Given the description of an element on the screen output the (x, y) to click on. 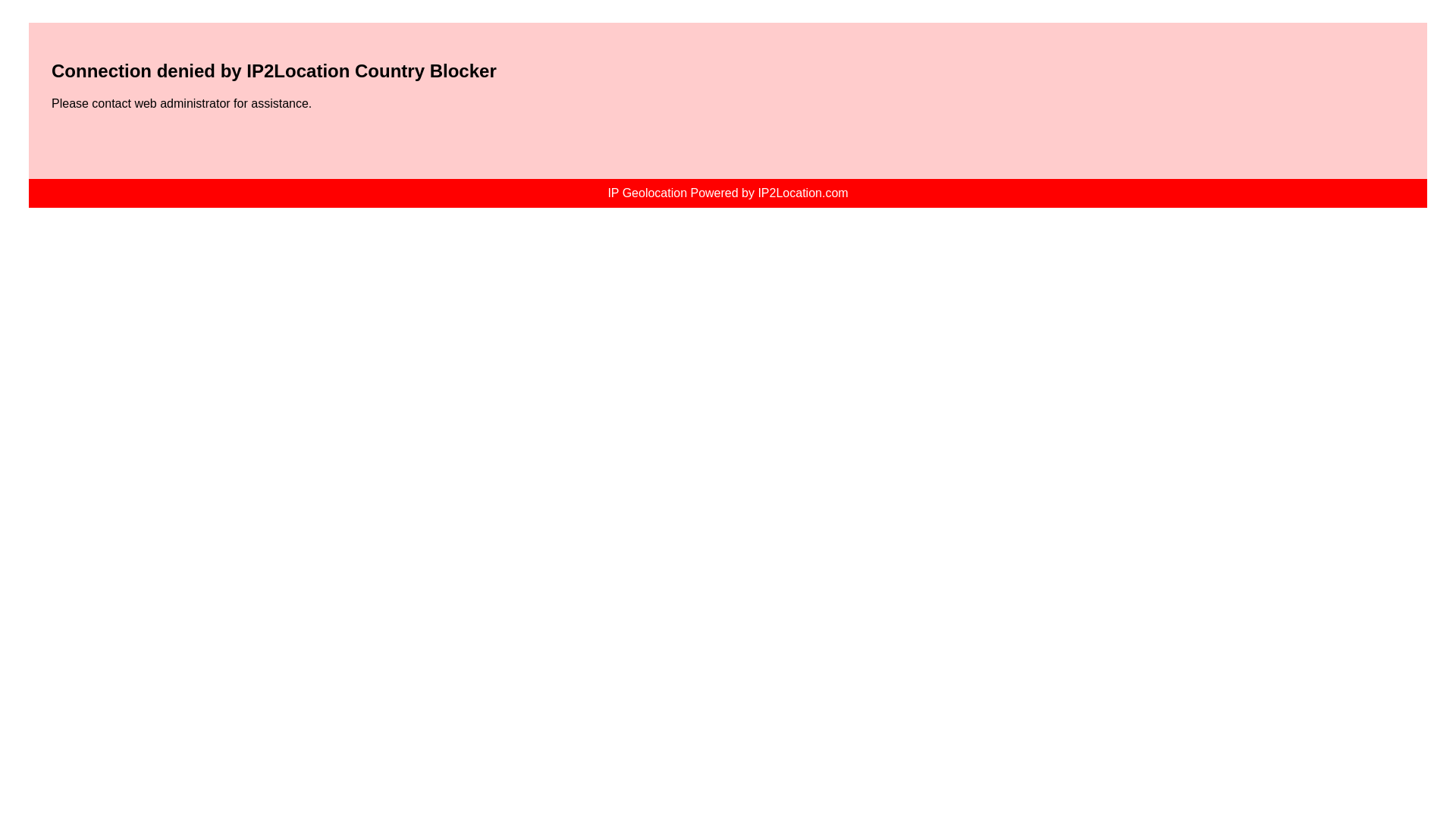
IP Geolocation Powered by IP2Location.com (727, 192)
